Given the description of an element on the screen output the (x, y) to click on. 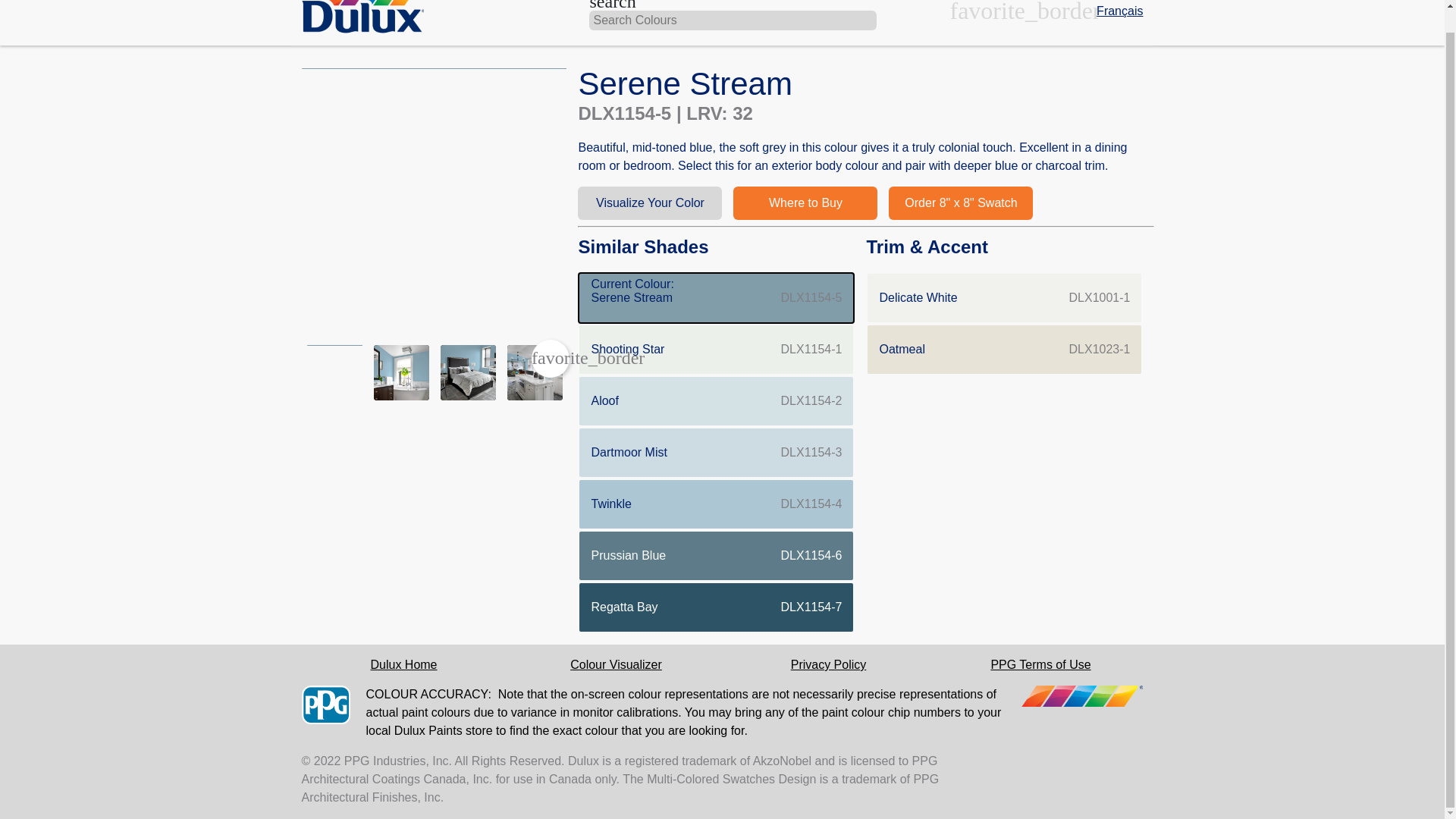
Colour Visualizer (615, 664)
Where to Buy (805, 203)
PPG Terms of Use (1040, 664)
Visualize Your Color (650, 203)
Dulux Home (716, 607)
Order 8" x 8" Swatch (716, 555)
Privacy Policy (403, 664)
